Given the description of an element on the screen output the (x, y) to click on. 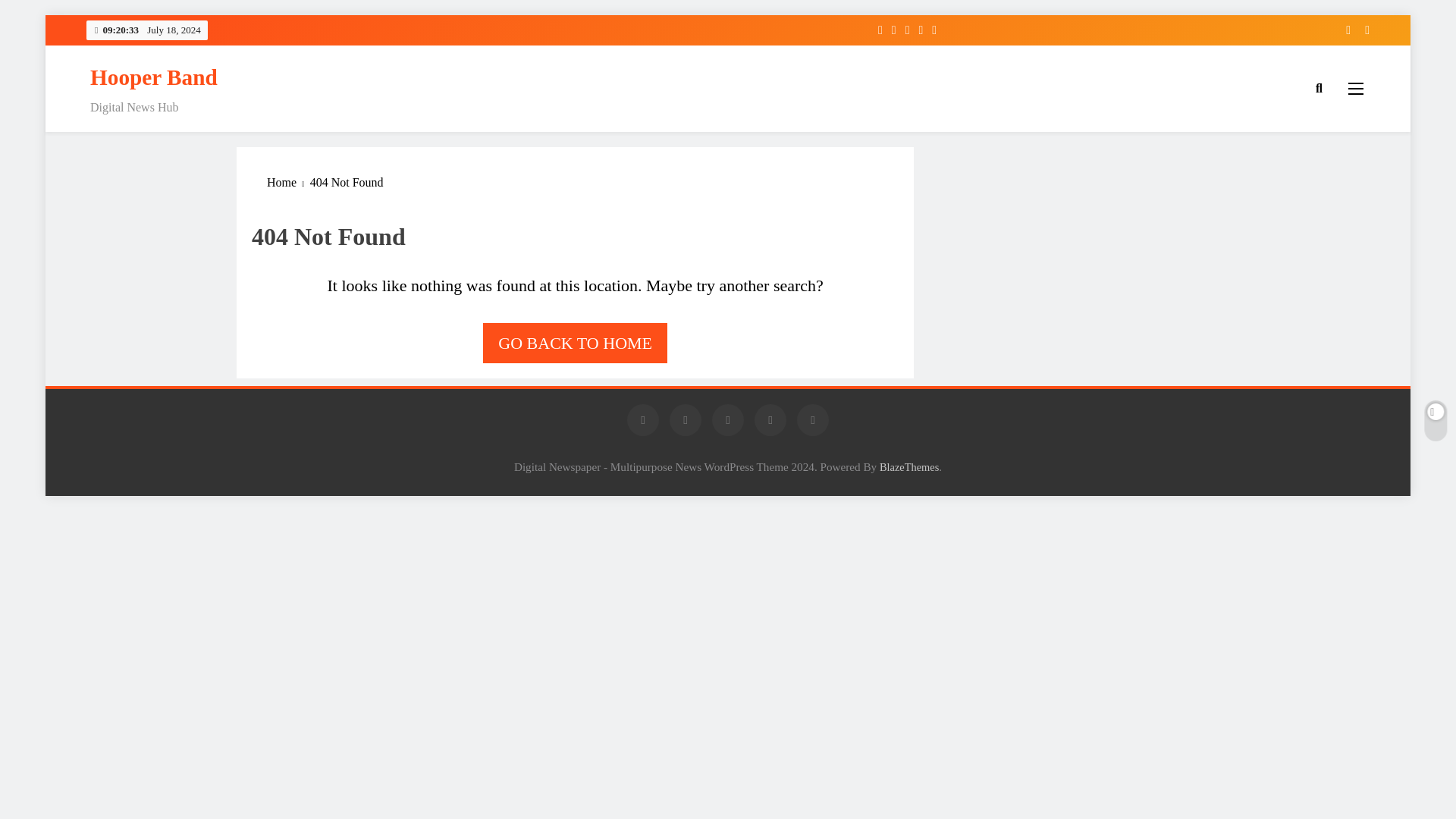
BlazeThemes (909, 467)
Hooper Band (153, 77)
Newsletter (1343, 30)
GO BACK TO HOME (574, 342)
Random News (1362, 30)
Home (288, 182)
